Given the description of an element on the screen output the (x, y) to click on. 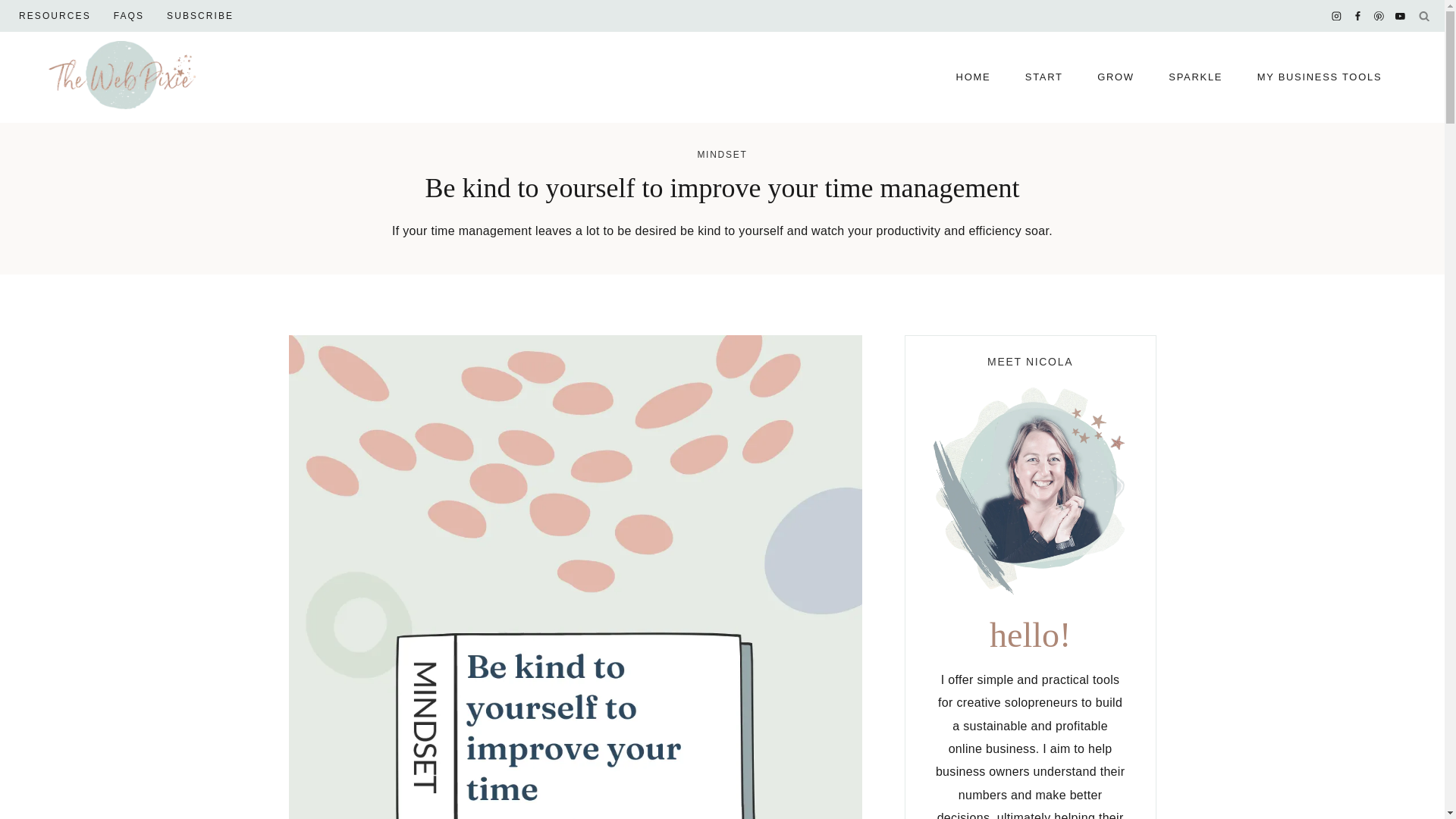
SPARKLE (1195, 77)
HOME (973, 77)
GROW (1115, 77)
SUBSCRIBE (199, 16)
MY BUSINESS TOOLS (1319, 77)
FAQS (128, 16)
RESOURCES (54, 16)
START (1043, 77)
MINDSET (721, 154)
